Given the description of an element on the screen output the (x, y) to click on. 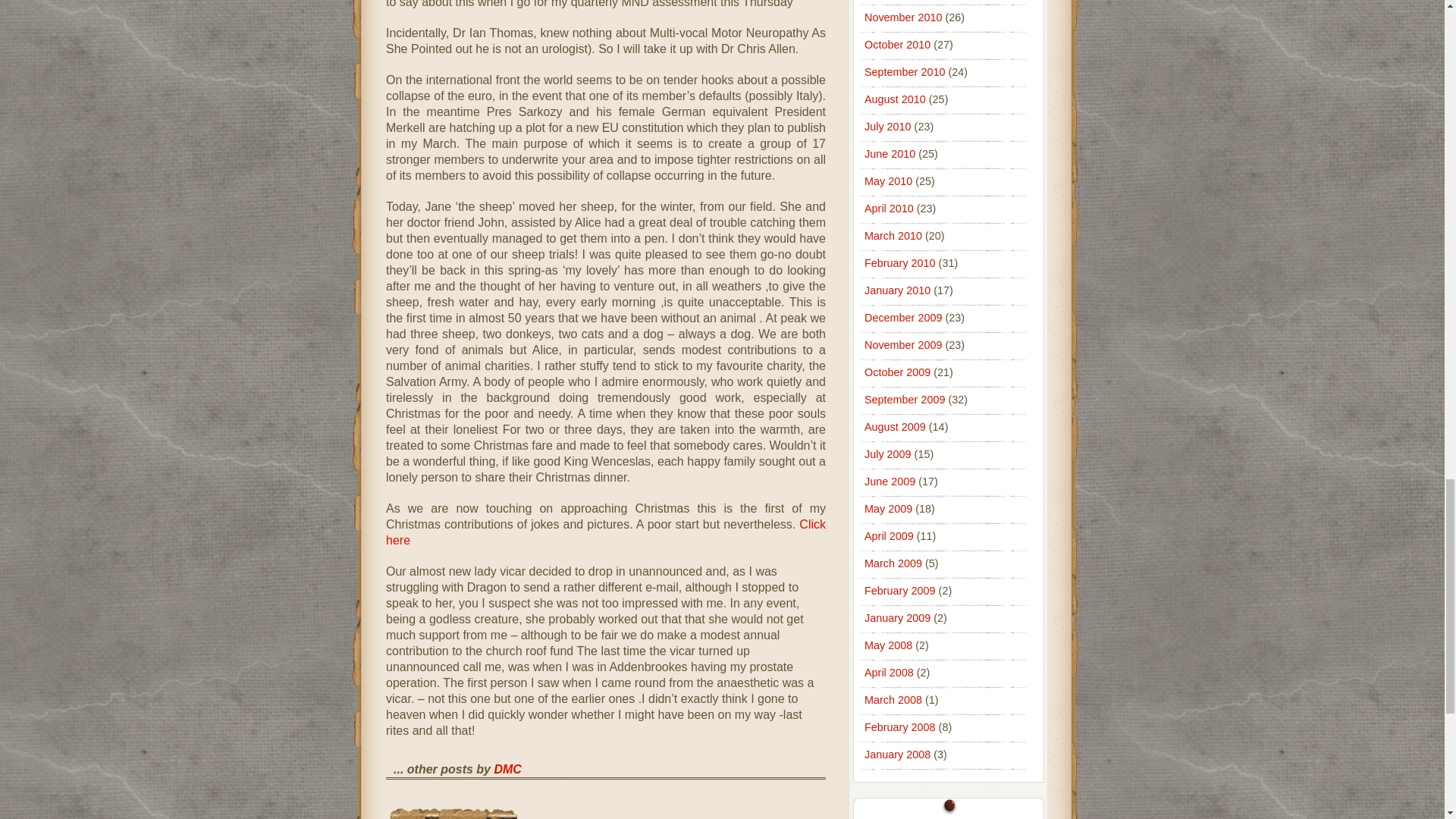
DMC (507, 768)
Click here (605, 532)
